Given the description of an element on the screen output the (x, y) to click on. 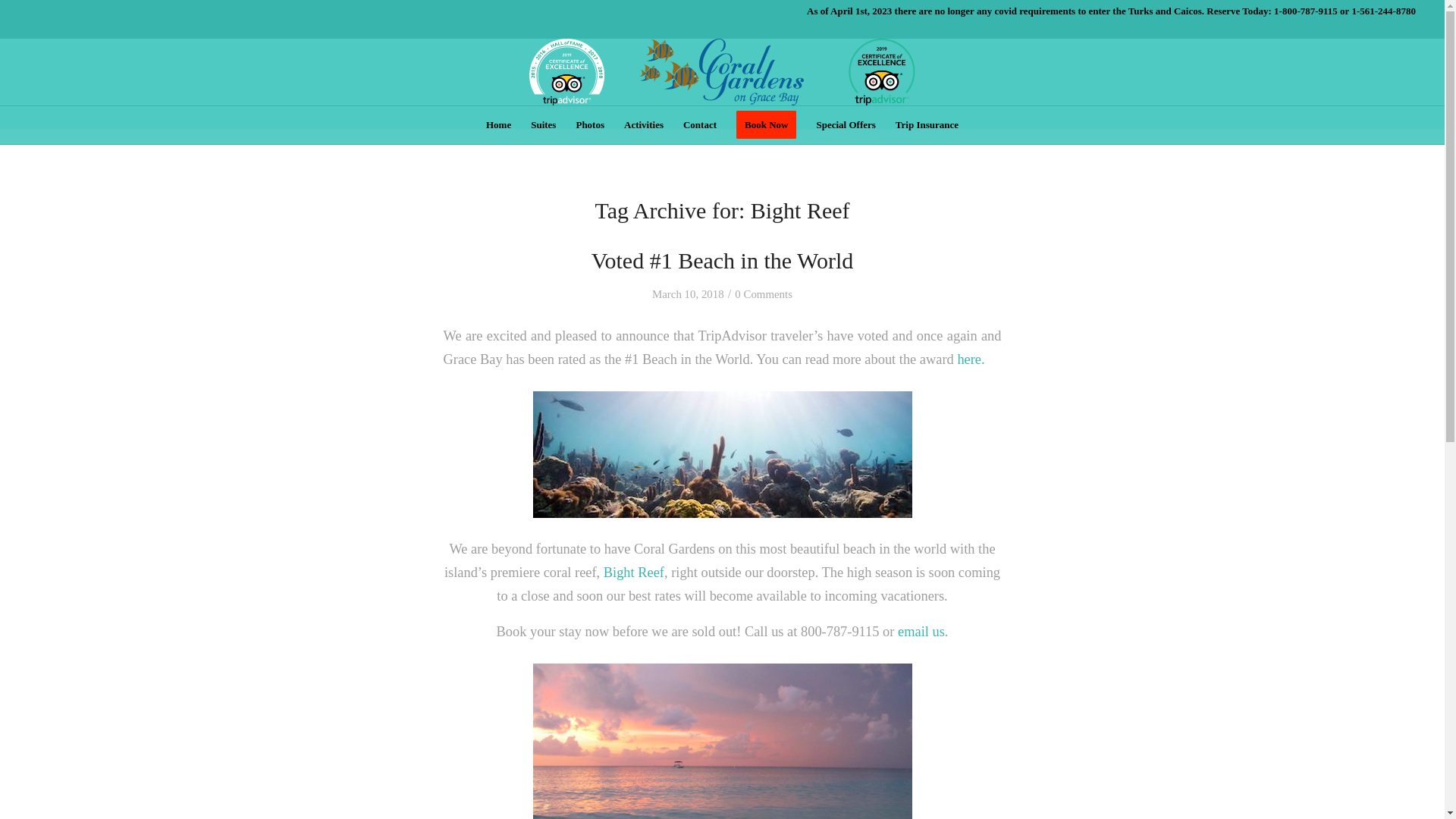
0 Comments (763, 294)
Suites (543, 125)
Photos (590, 125)
email us (921, 631)
Book Now (766, 125)
Activities (643, 125)
Contact (699, 125)
Special Offers (845, 125)
Trip Insurance (926, 125)
here. (970, 359)
Bight Reef (633, 572)
Home (498, 125)
